Given the description of an element on the screen output the (x, y) to click on. 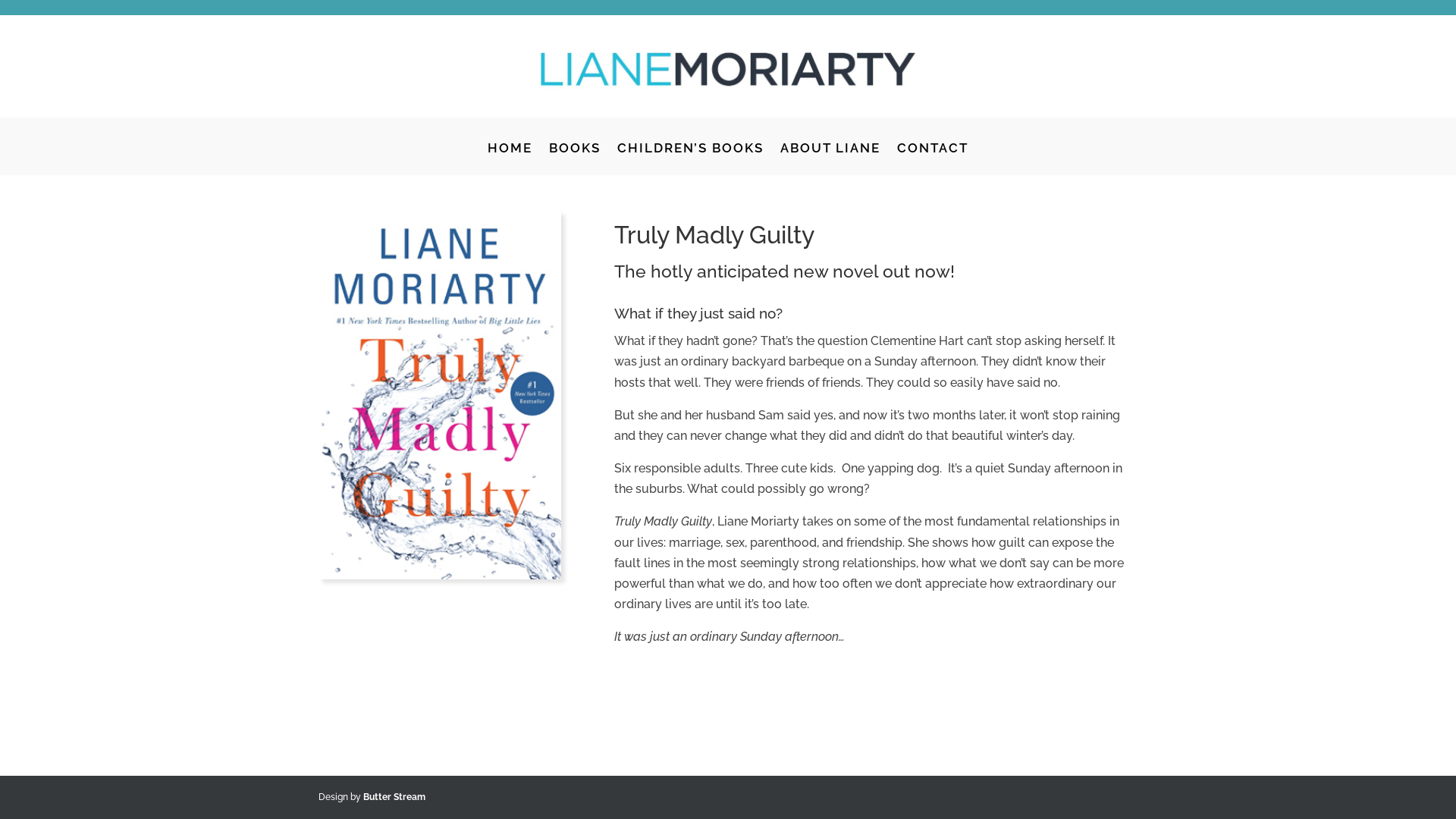
BOOKS Element type: text (574, 158)
Butter Stream Element type: text (394, 796)
ABOUT LIANE Element type: text (830, 158)
HOME Element type: text (509, 158)
CONTACT Element type: text (932, 158)
